Given the description of an element on the screen output the (x, y) to click on. 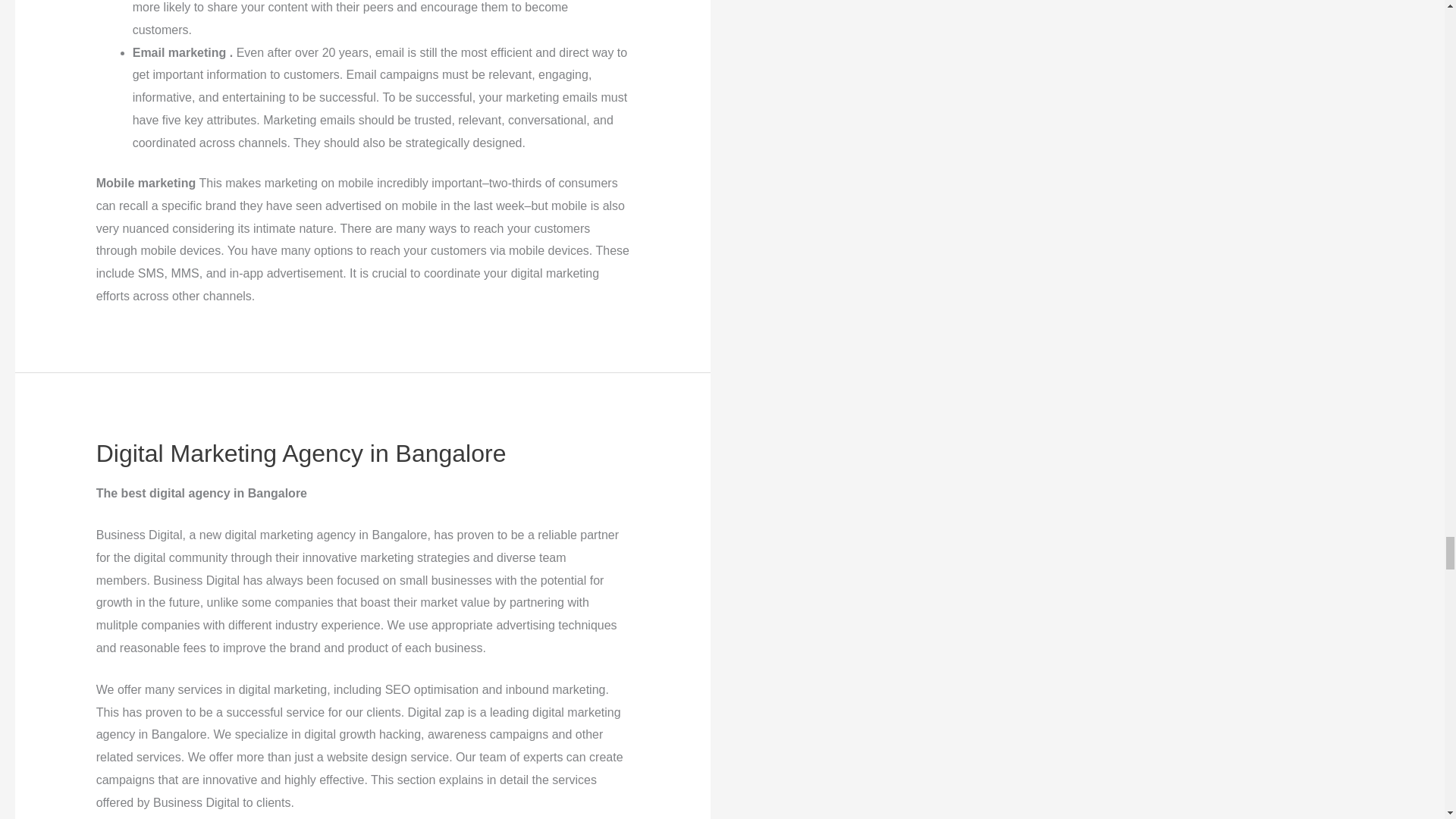
Digital Marketing Agency in Bangalore (301, 452)
